Given the description of an element on the screen output the (x, y) to click on. 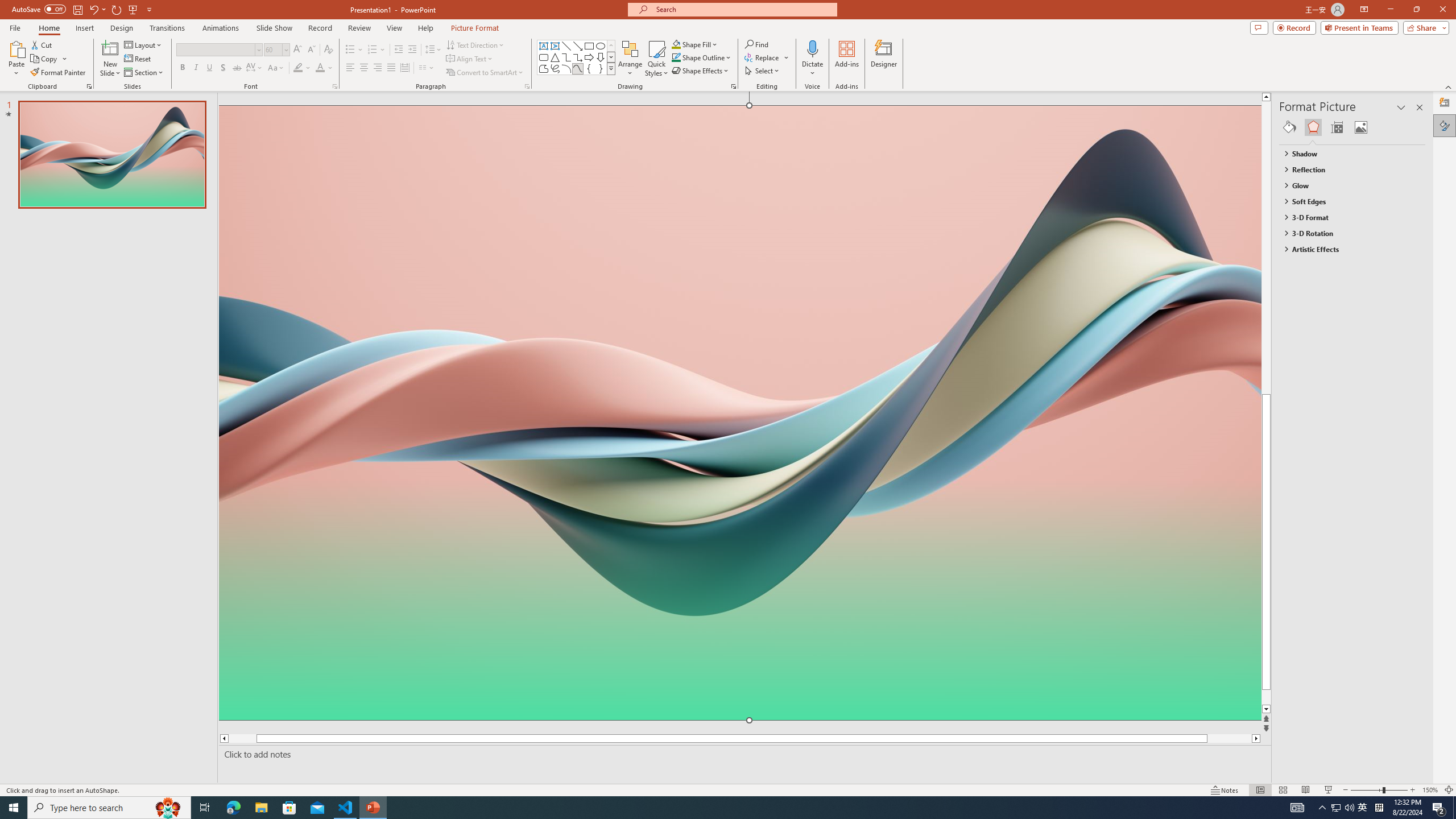
Soft Edges (1347, 201)
Format Picture (1444, 125)
